Given the description of an element on the screen output the (x, y) to click on. 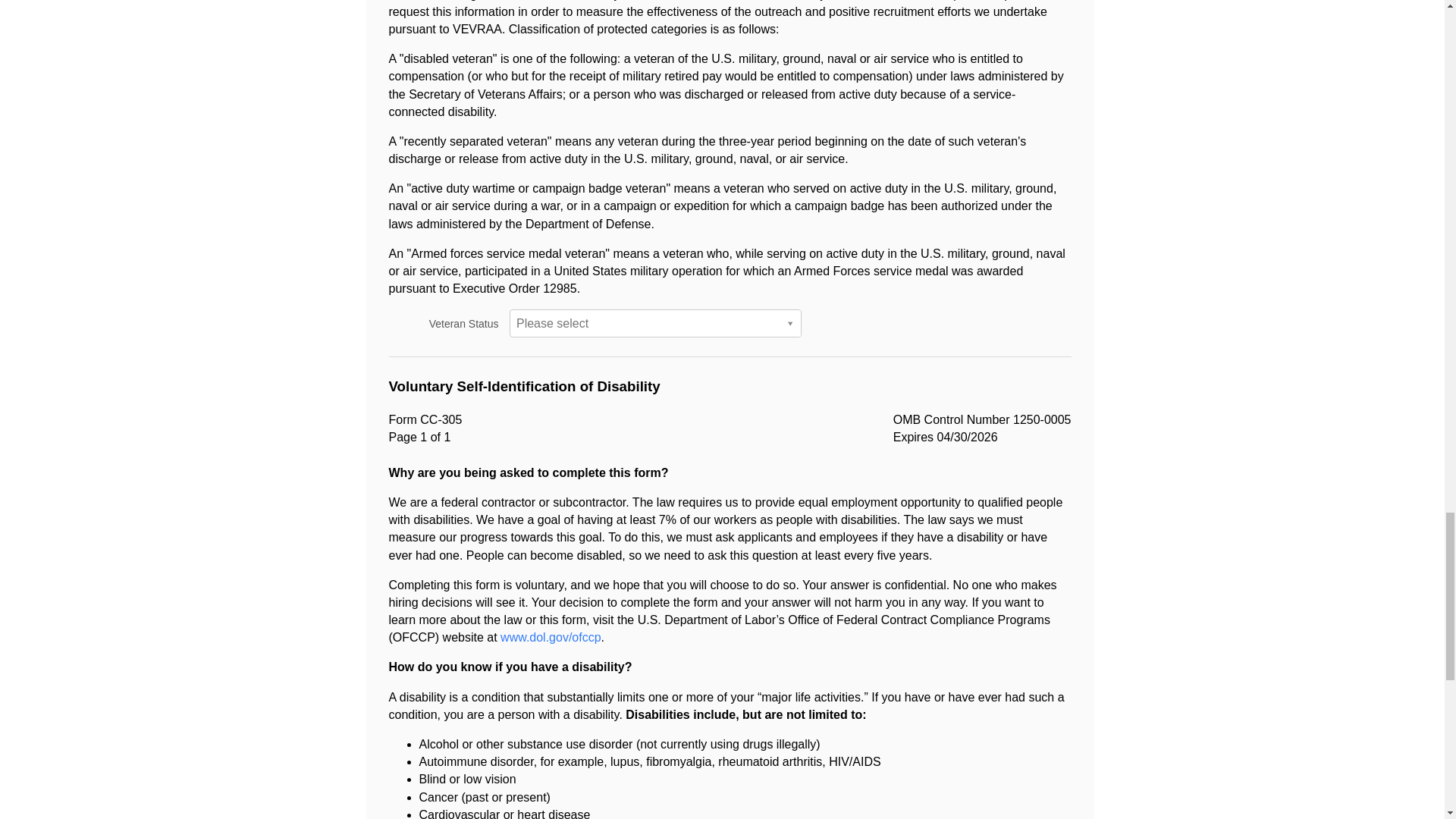
Please select (655, 323)
